Given the description of an element on the screen output the (x, y) to click on. 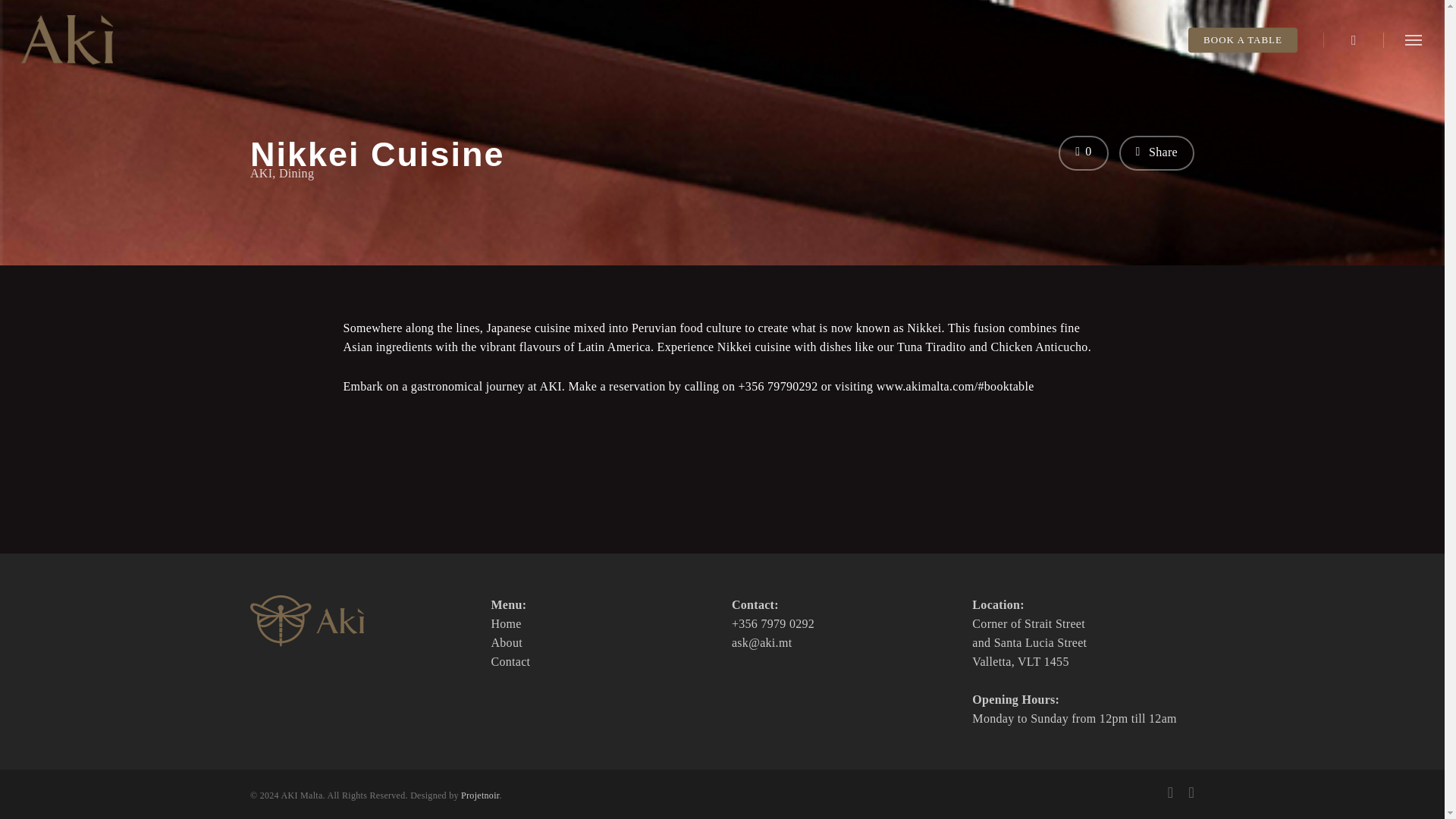
Dining (296, 173)
Projetnoir (480, 795)
Love this (1083, 152)
AKI (261, 173)
Contact (509, 661)
BOOK A TABLE (1242, 40)
0 (1083, 152)
Home (505, 623)
About (506, 642)
